Given the description of an element on the screen output the (x, y) to click on. 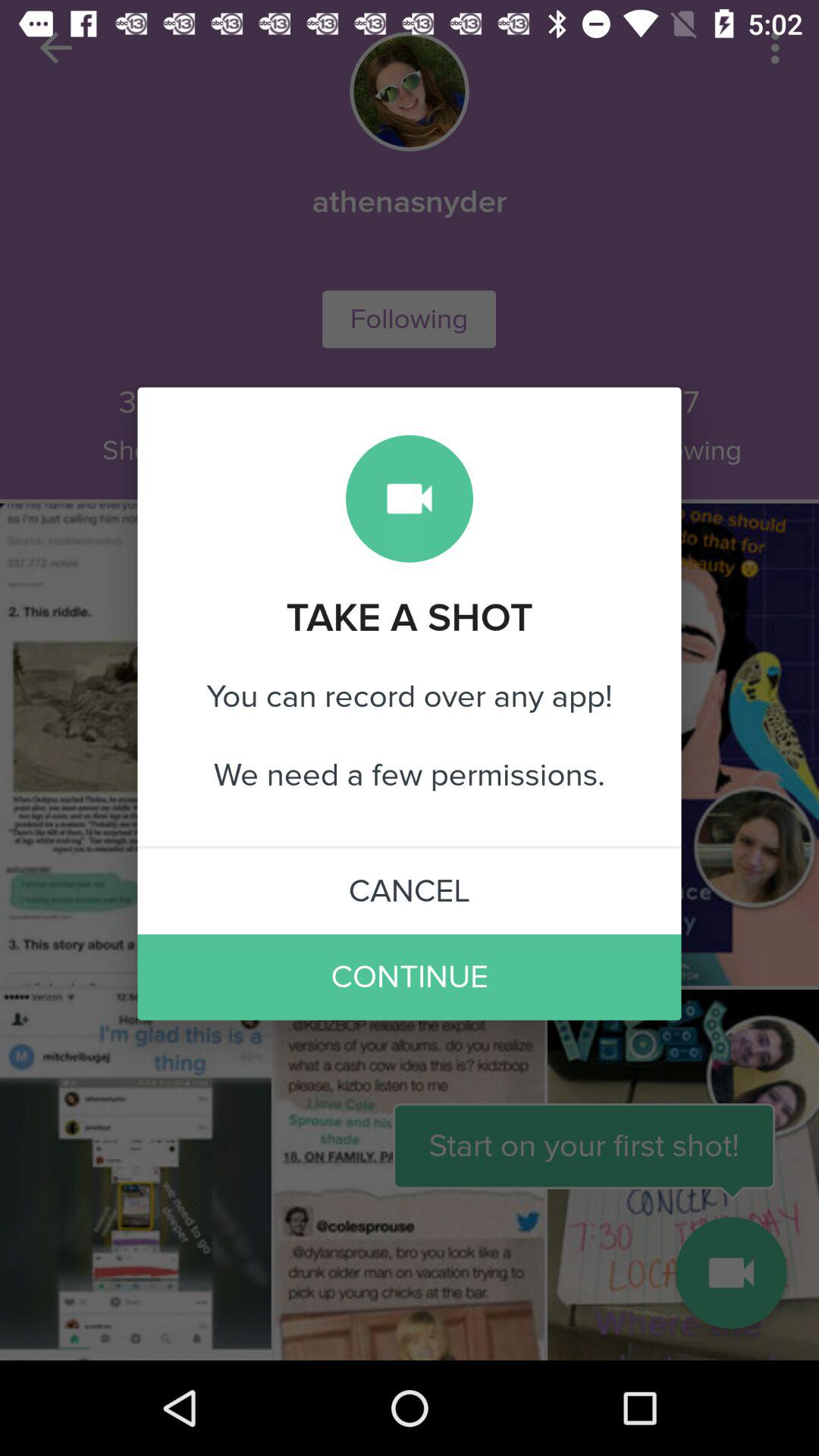
turn off item at the bottom (409, 977)
